Given the description of an element on the screen output the (x, y) to click on. 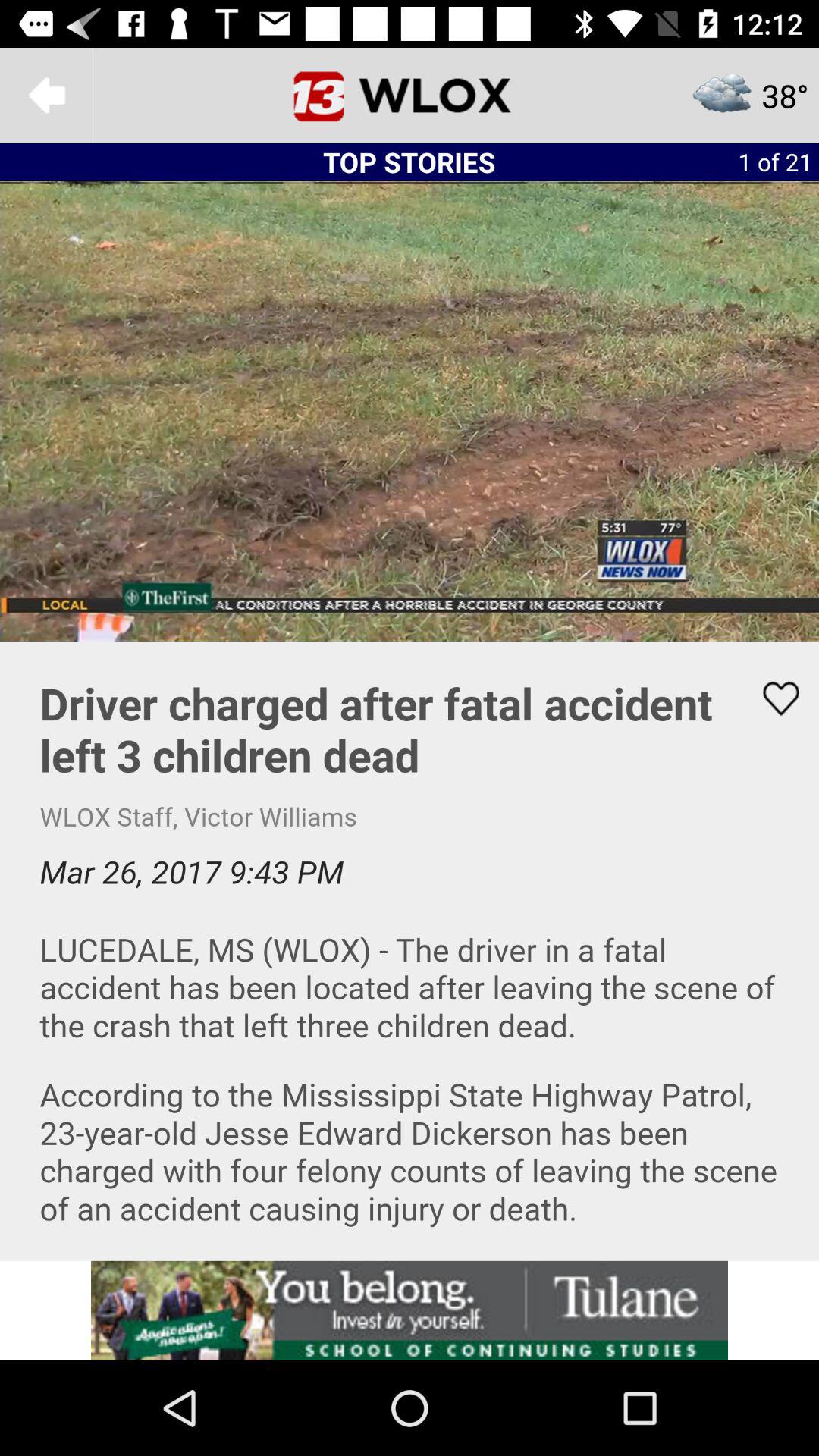
to add favorite (771, 698)
